Given the description of an element on the screen output the (x, y) to click on. 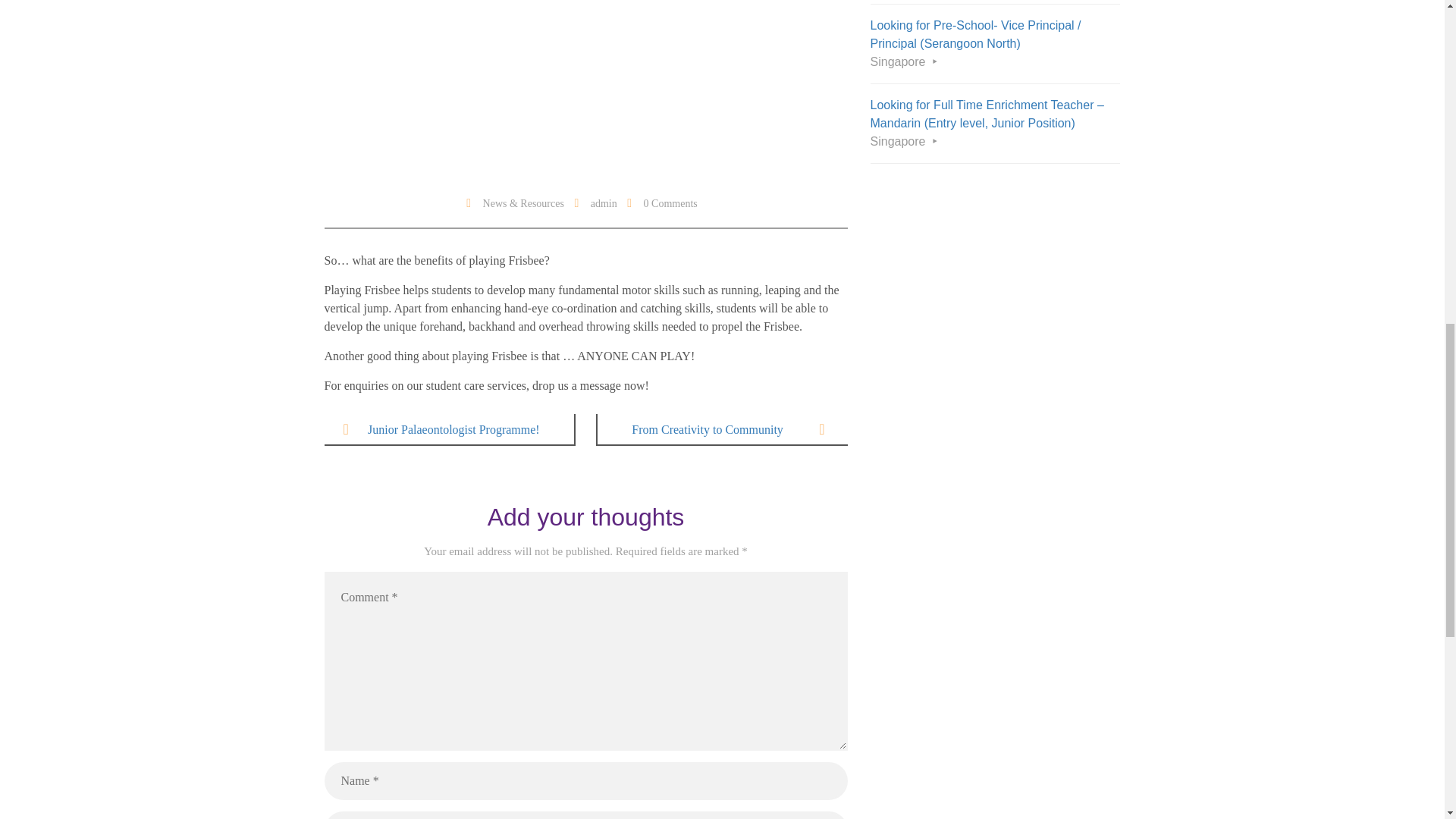
Posts by admin (604, 203)
admin (604, 203)
0 Comments (670, 203)
Junior Palaeontologist Programme! (448, 429)
